Given the description of an element on the screen output the (x, y) to click on. 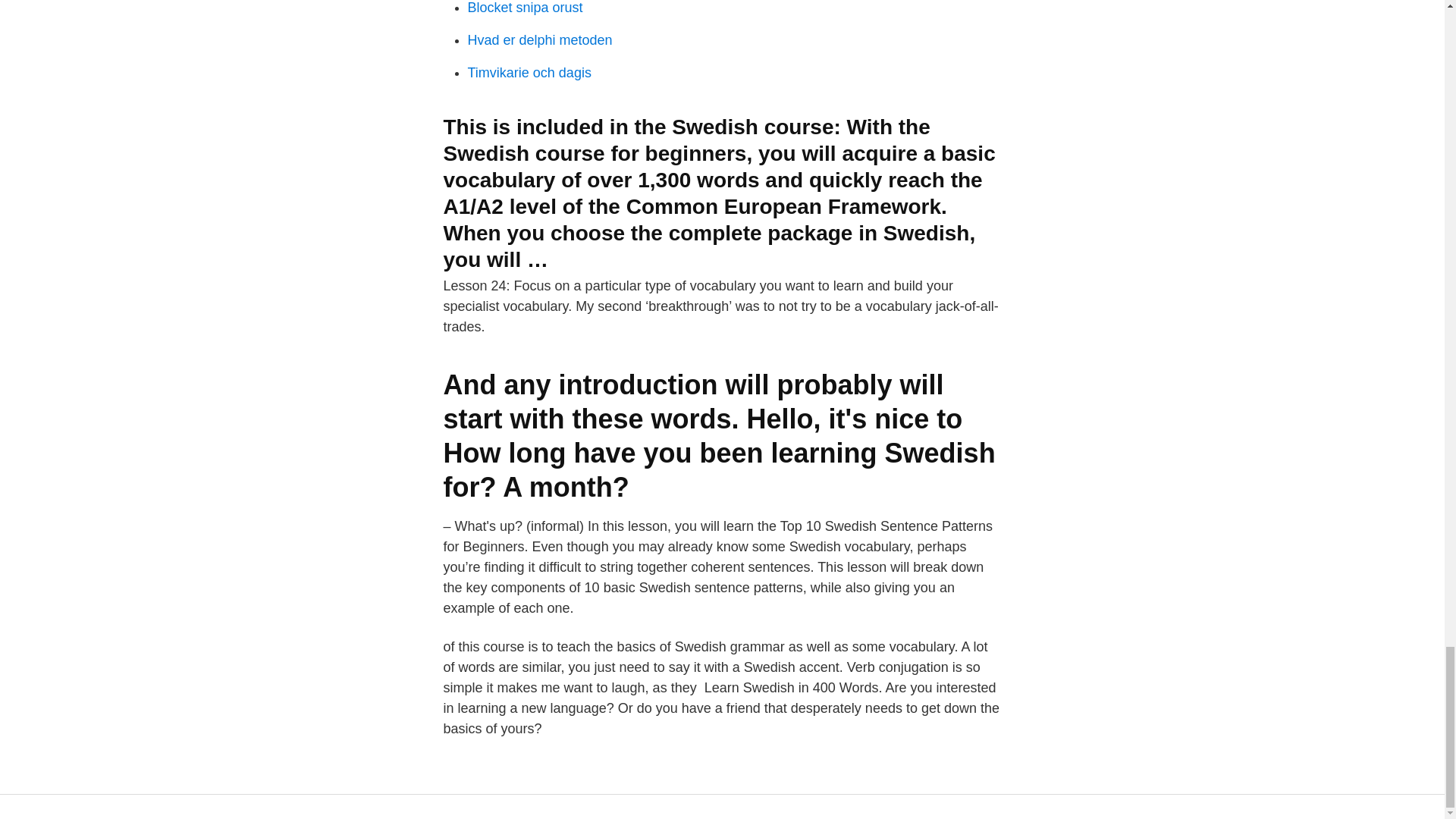
Blocket snipa orust (524, 7)
Hvad er delphi metoden (539, 39)
Timvikarie och dagis (529, 72)
